Given the description of an element on the screen output the (x, y) to click on. 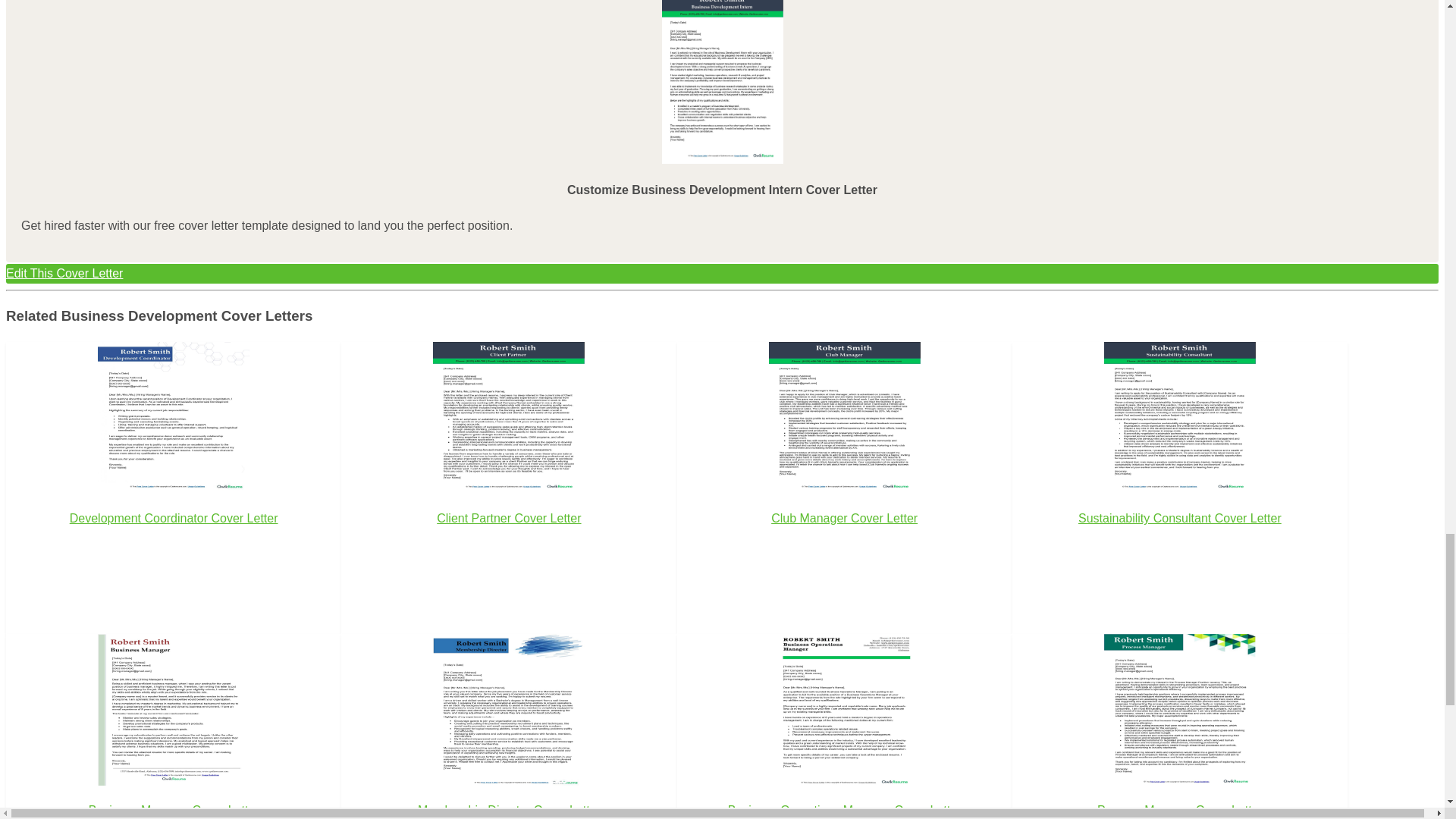
Development Coordinator Cover Letter Example (172, 417)
Development Coordinator Cover Letter (172, 459)
Business Manager Cover Letter (172, 726)
Client Partner Cover Letter Example (508, 417)
Club Manager Cover Letter (844, 459)
Sustainability Consultant Cover Letter Example (1179, 417)
Sustainability Consultant Cover Letter (1179, 459)
Process Manager Cover Letter (1179, 726)
Business Manager Cover Letter Example (172, 709)
Membership Director Cover Letter (508, 726)
Membership Director Cover Letter Example (508, 709)
Club Manager Cover Letter Example (844, 417)
Business Operations Manager Cover Letter (844, 726)
Edit This Cover Letter (721, 273)
Client Partner Cover Letter (508, 459)
